Given the description of an element on the screen output the (x, y) to click on. 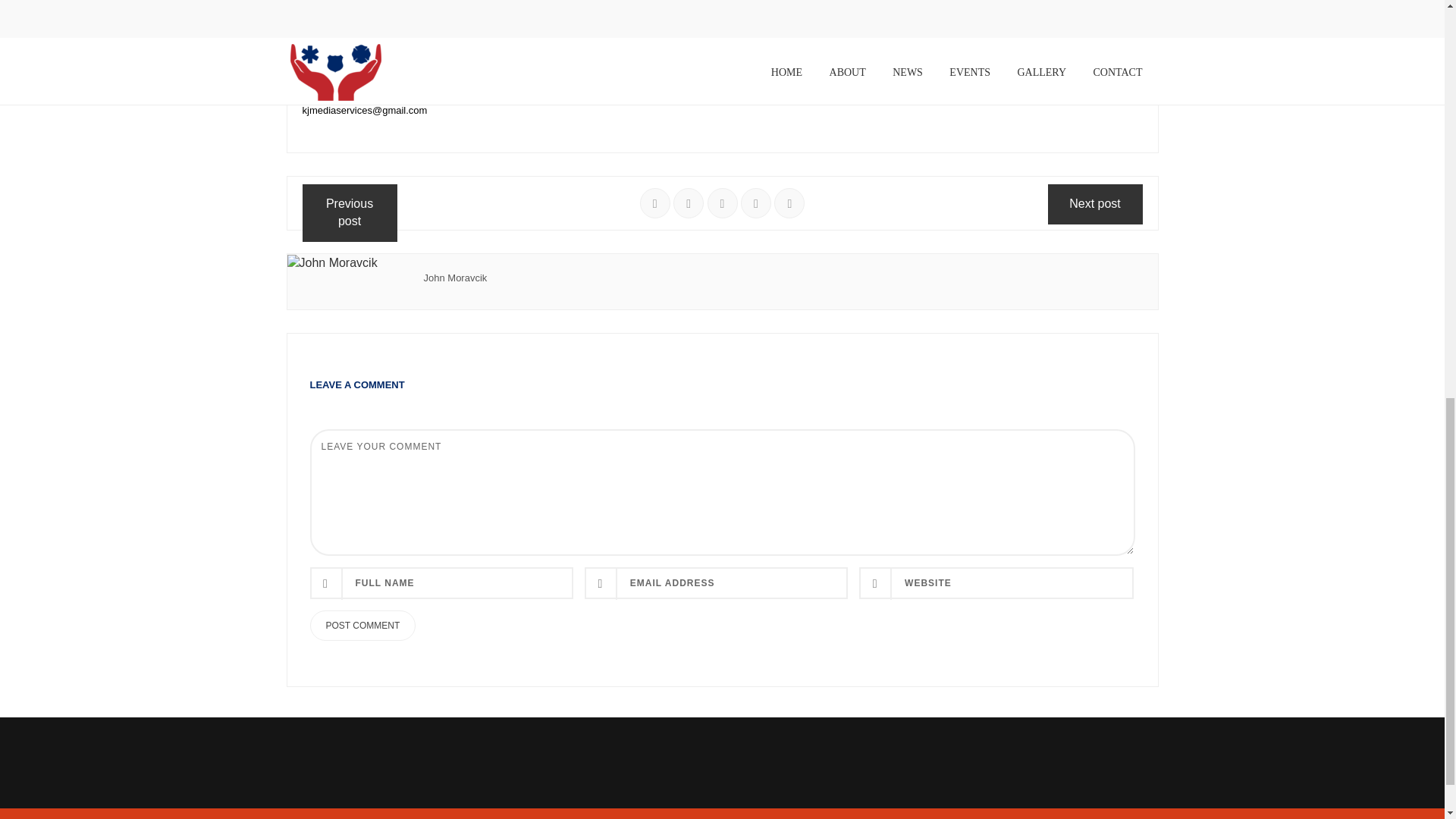
POST COMMENT (361, 625)
Next post (1095, 204)
Previous post (348, 212)
John Moravcik (454, 277)
POST COMMENT (361, 625)
